Given the description of an element on the screen output the (x, y) to click on. 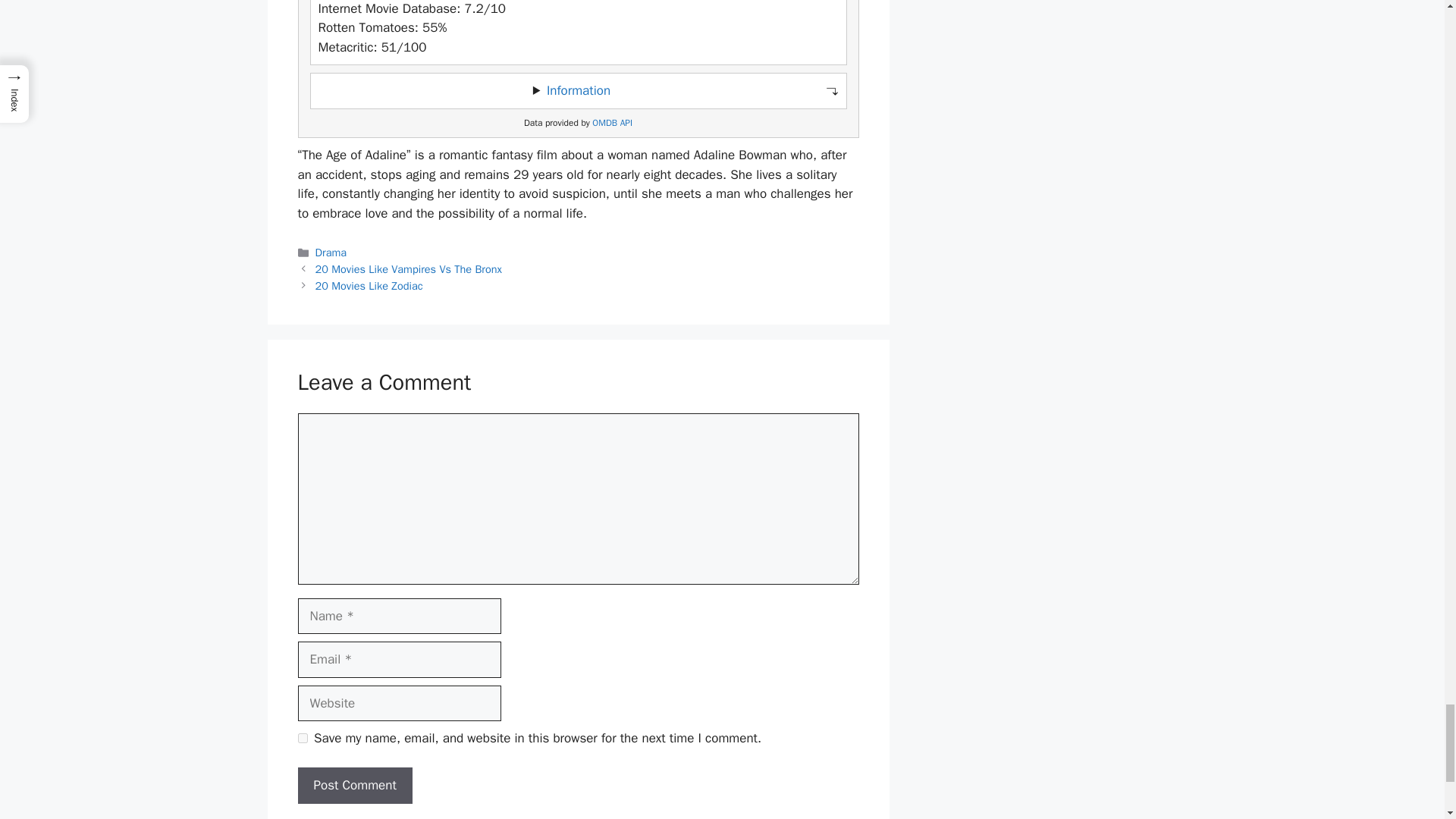
Post Comment (354, 785)
yes (302, 737)
